Given the description of an element on the screen output the (x, y) to click on. 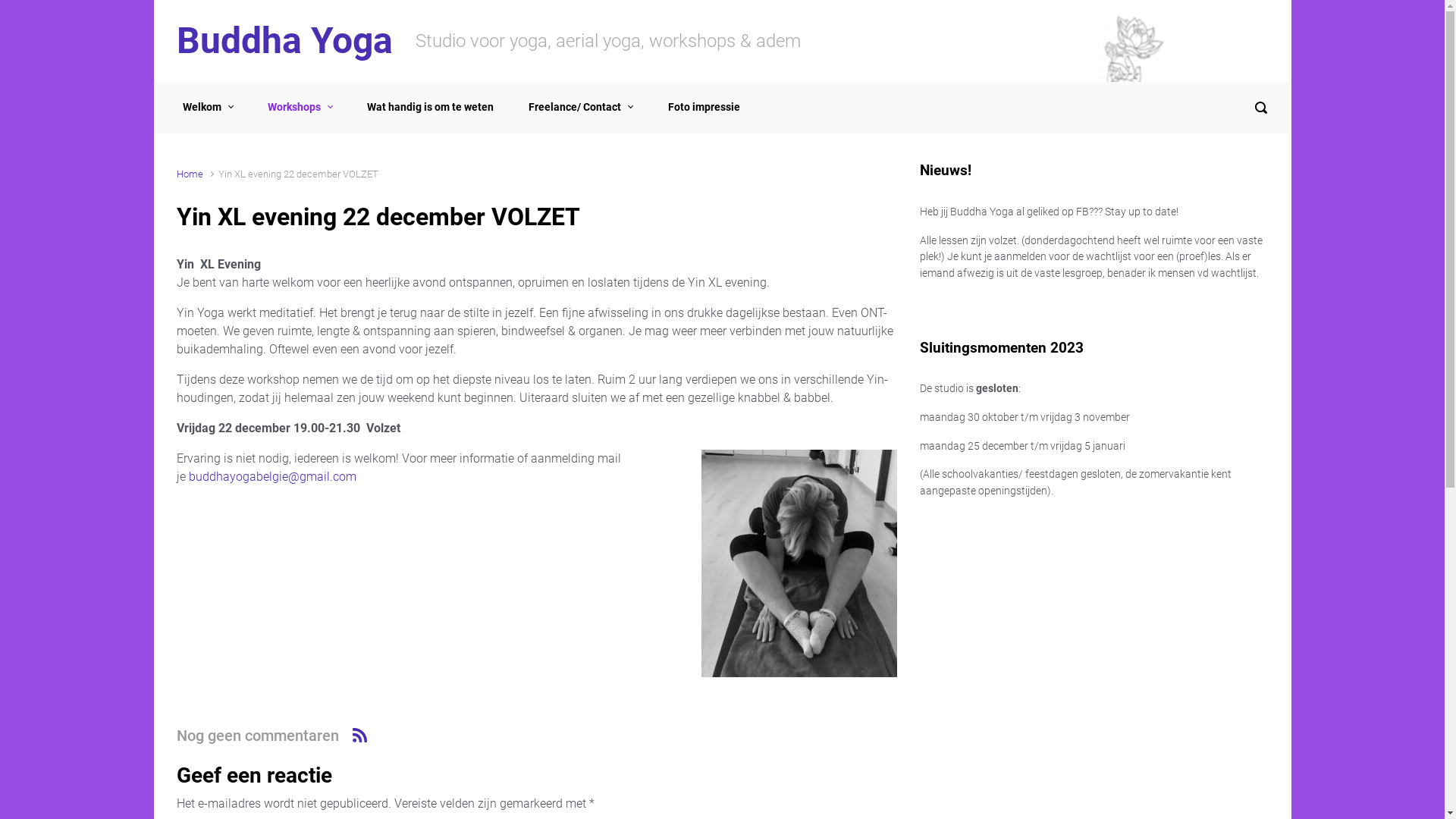
Foto impressie Element type: text (704, 107)
Wat handig is om te weten Element type: text (429, 107)
Workshops Element type: text (299, 107)
Home Element type: text (188, 173)
Freelance/ Contact Element type: text (580, 107)
Buddha Yoga Element type: text (283, 40)
Welkom Element type: text (206, 107)
buddhayogabelgie@gmail.com Element type: text (271, 476)
